Given the description of an element on the screen output the (x, y) to click on. 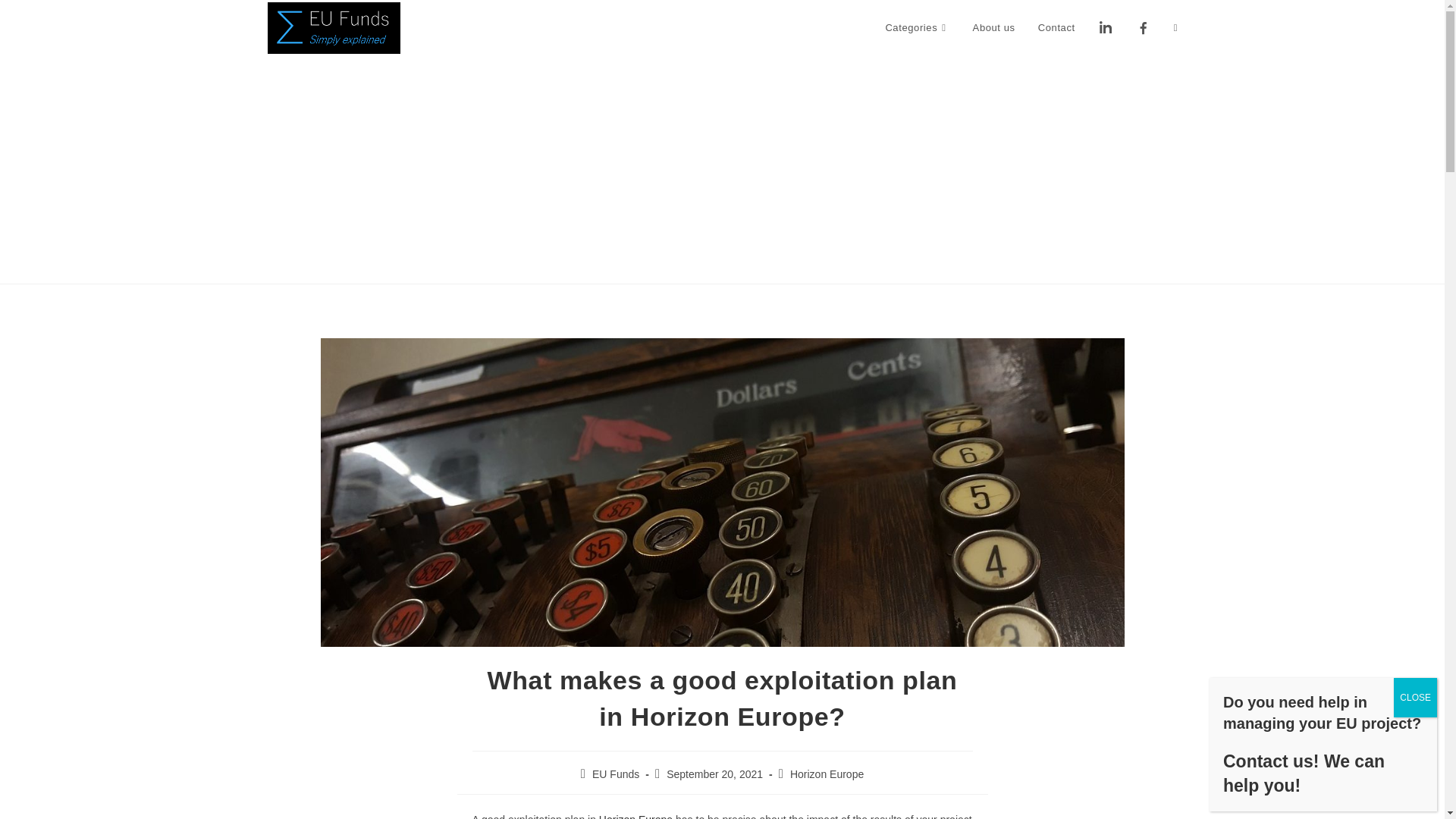
Contact (1056, 28)
Horizon Europe (826, 774)
About us (993, 28)
Horizon Europe (635, 816)
Categories (916, 28)
Posts by EU Funds (615, 774)
EU Funds (615, 774)
